Given the description of an element on the screen output the (x, y) to click on. 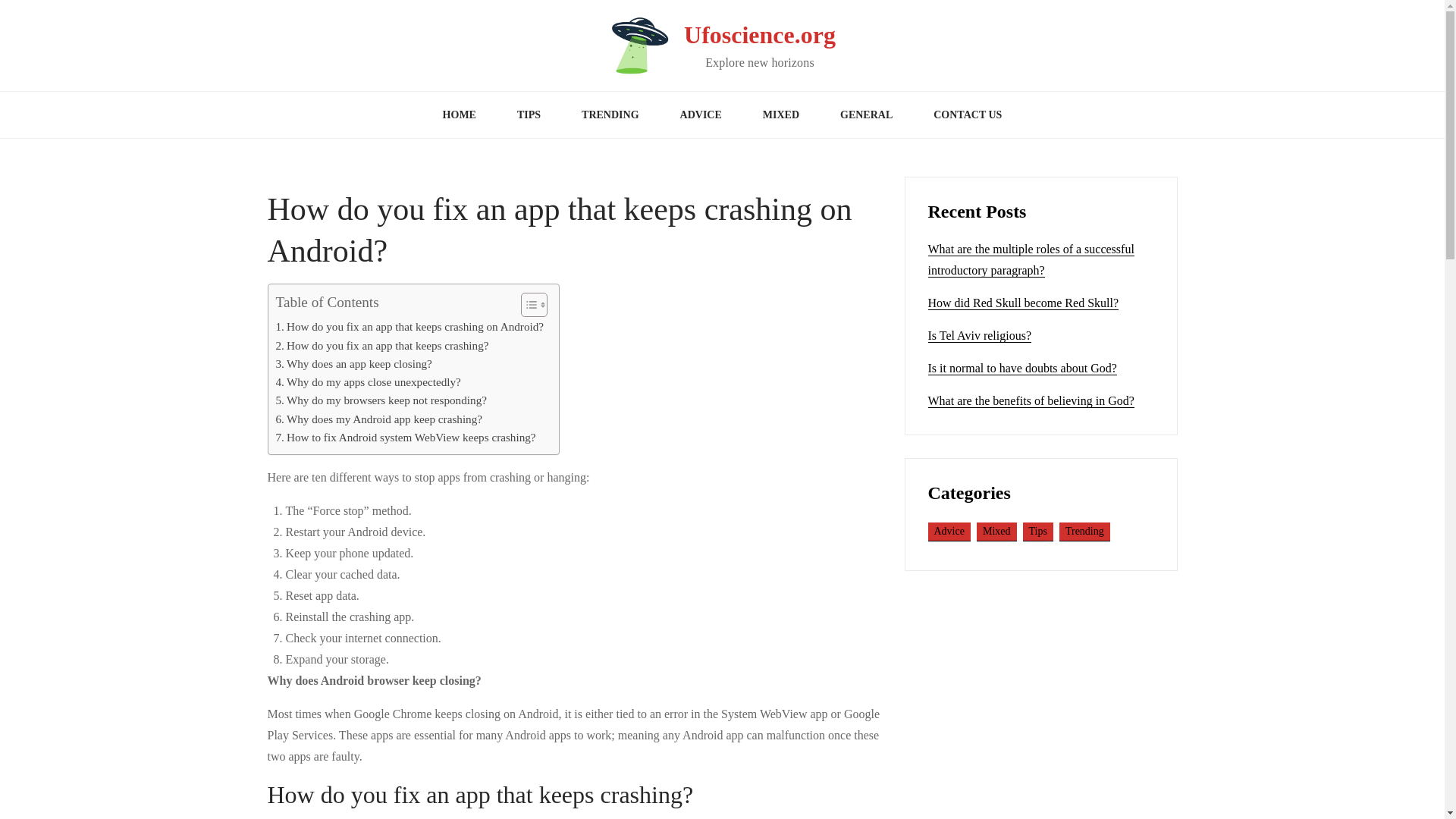
Ufoscience.org (759, 34)
TRENDING (610, 114)
Why do my browsers keep not responding? (381, 400)
How do you fix an app that keeps crashing? (382, 345)
Why does an app keep closing? (354, 363)
What are the benefits of believing in God? (1031, 400)
Is Tel Aviv religious? (980, 336)
TIPS (528, 114)
Why does an app keep closing? (354, 363)
How to fix Android system WebView keeps crashing? (405, 437)
